Given the description of an element on the screen output the (x, y) to click on. 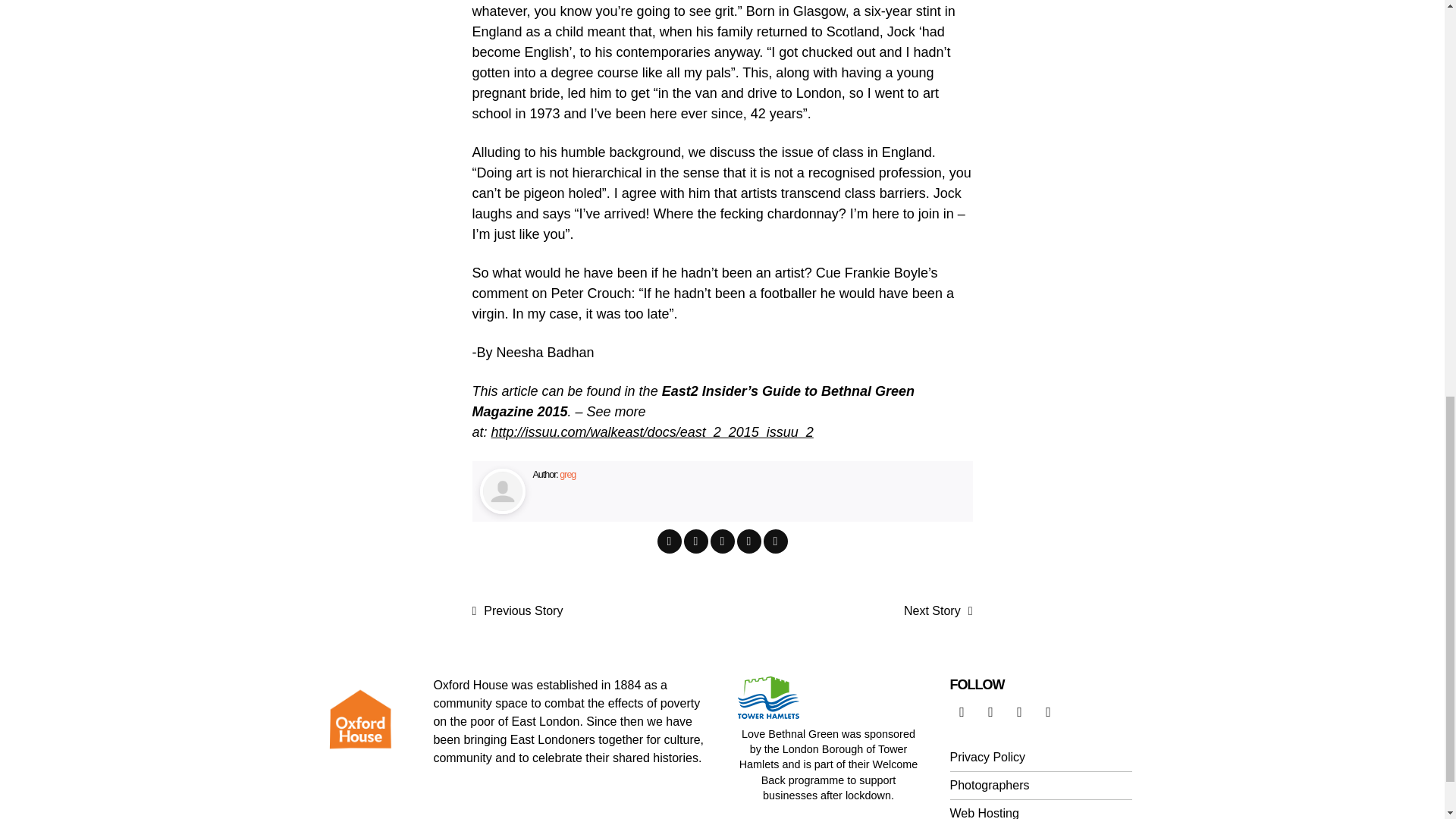
greg (567, 474)
Next Story (938, 610)
Previous Story (516, 610)
